Given the description of an element on the screen output the (x, y) to click on. 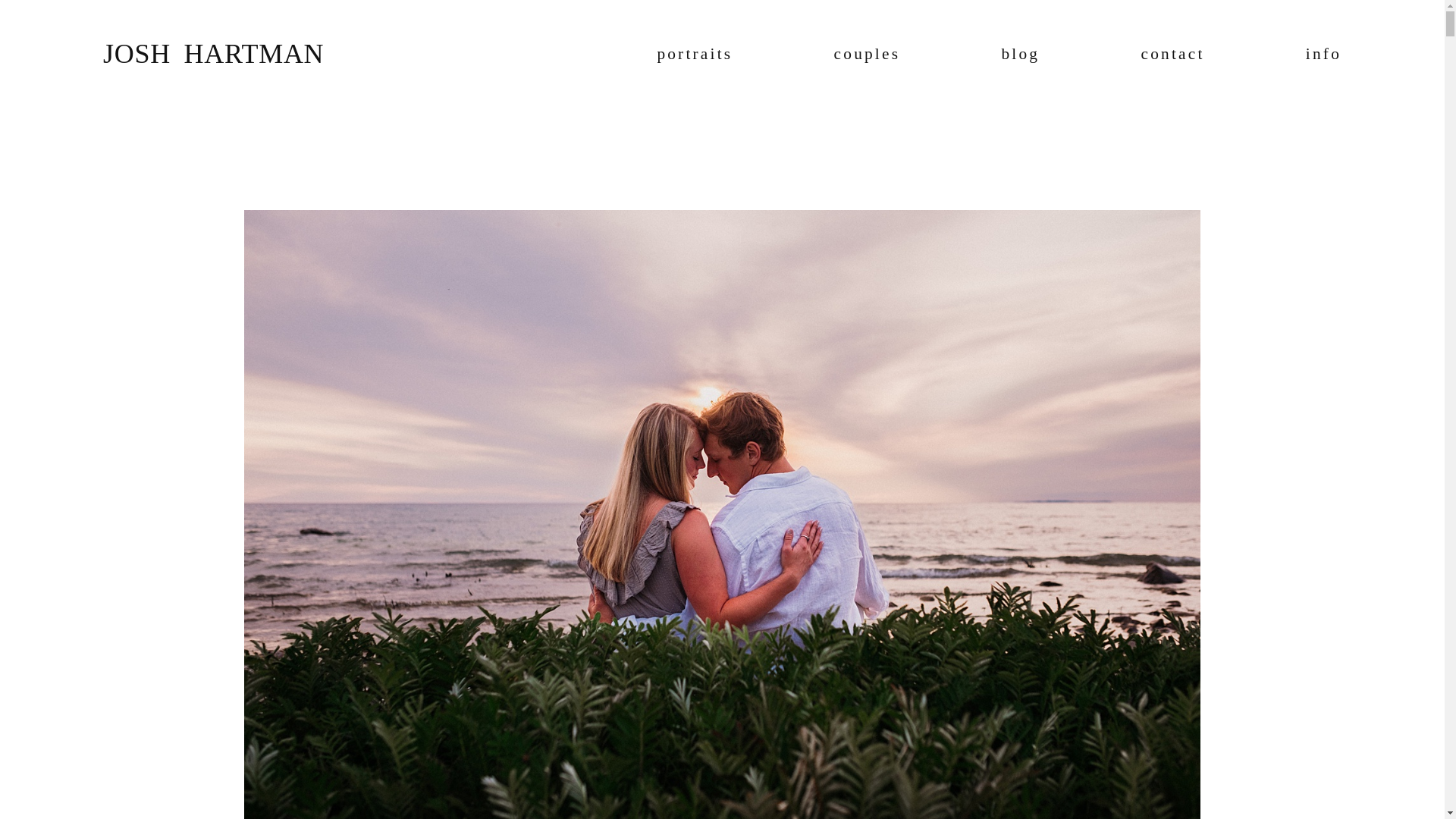
couples (867, 53)
info (1323, 53)
contact (1173, 53)
JOSH HARTMAN (213, 53)
blog (1020, 53)
portraits (694, 53)
